Given the description of an element on the screen output the (x, y) to click on. 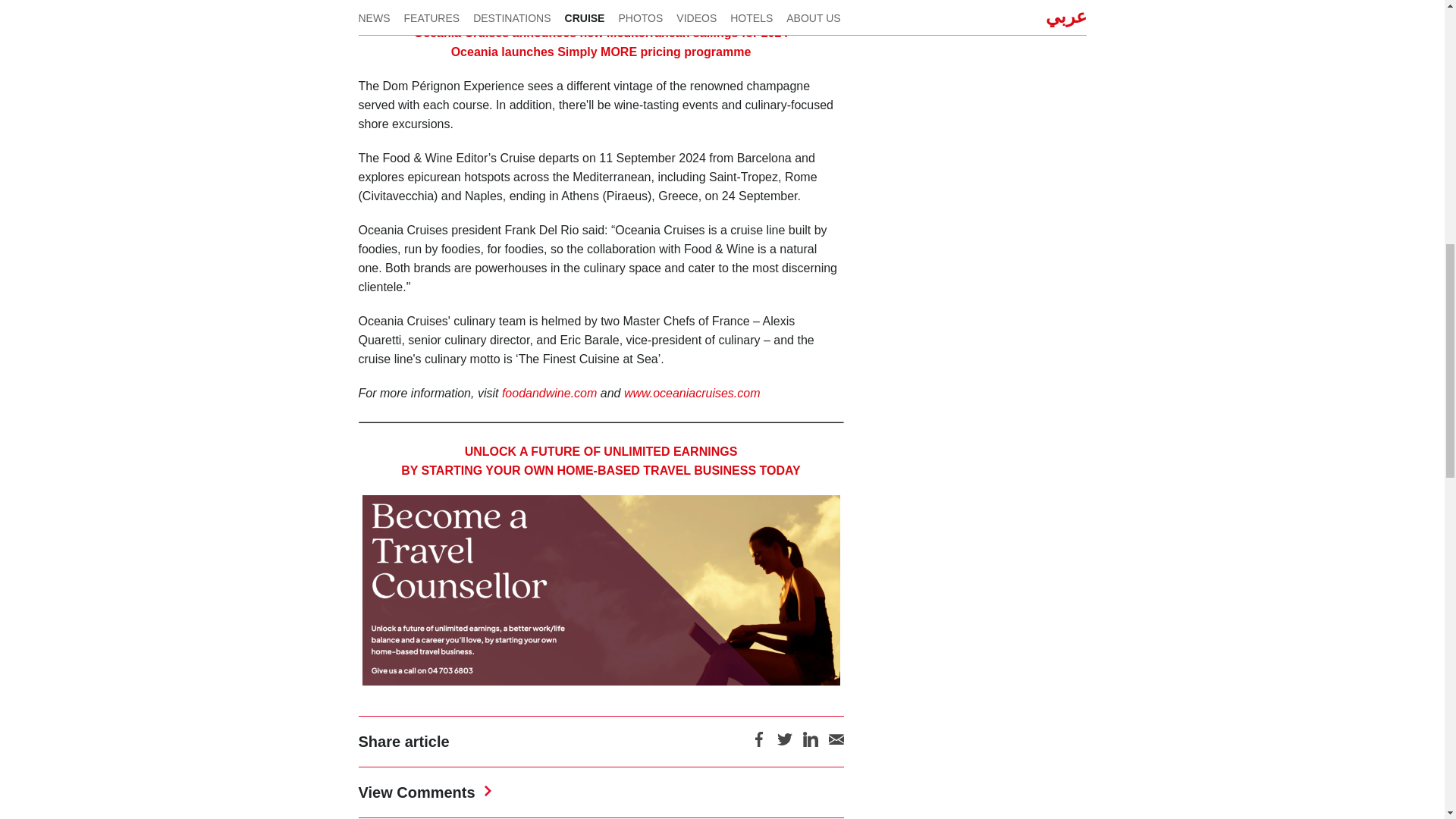
Share by email (835, 744)
Share on Twitter (784, 744)
Share on LinkedIn (809, 744)
Share on Facebook (758, 744)
